Given the description of an element on the screen output the (x, y) to click on. 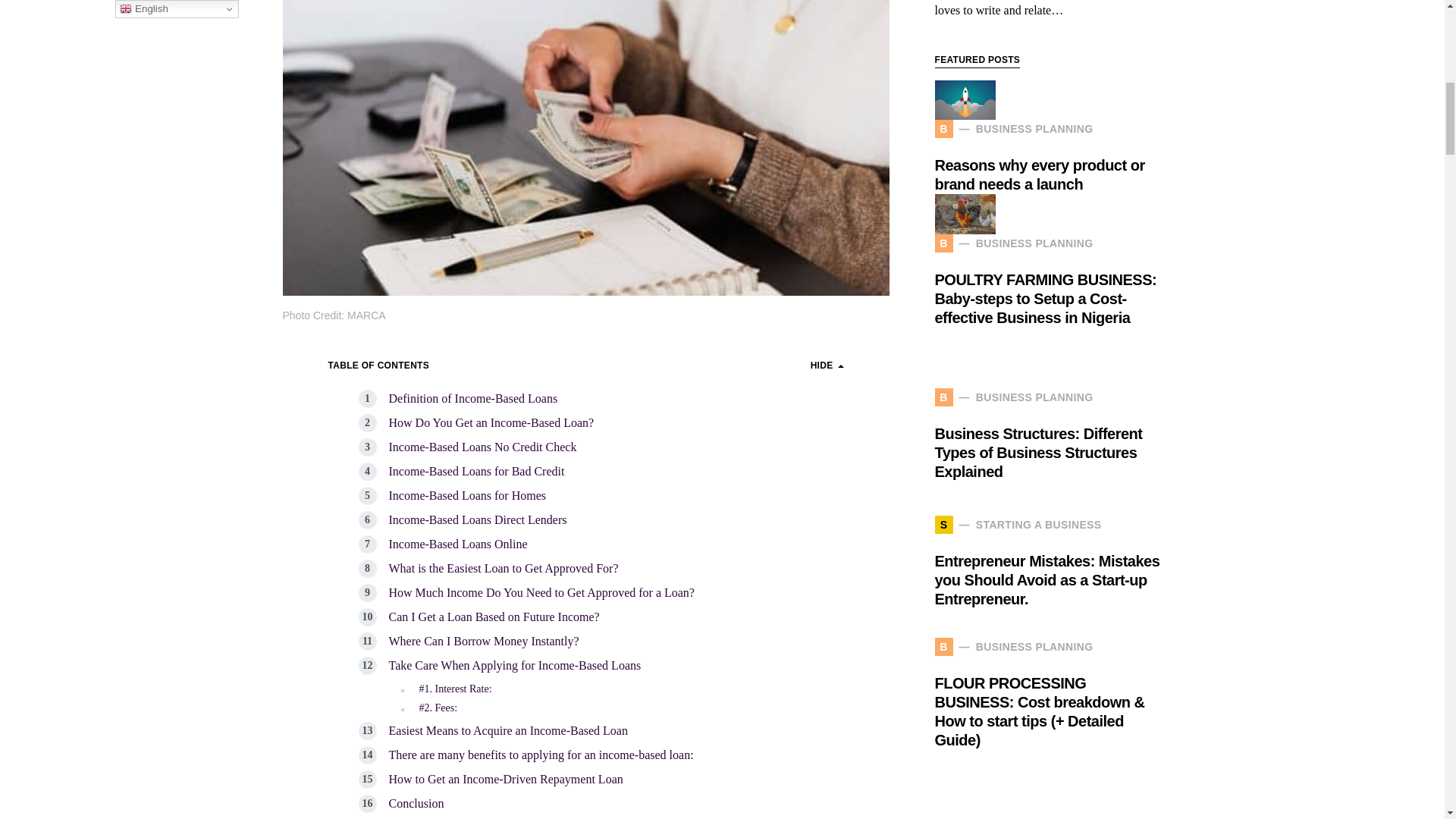
How Do You Get an Income-Based Loan? (491, 422)
Income-Based Loans No Credit Check (482, 446)
Income-Based Loans for Bad Credit (476, 471)
Definition of Income-Based Loans (472, 398)
